Given the description of an element on the screen output the (x, y) to click on. 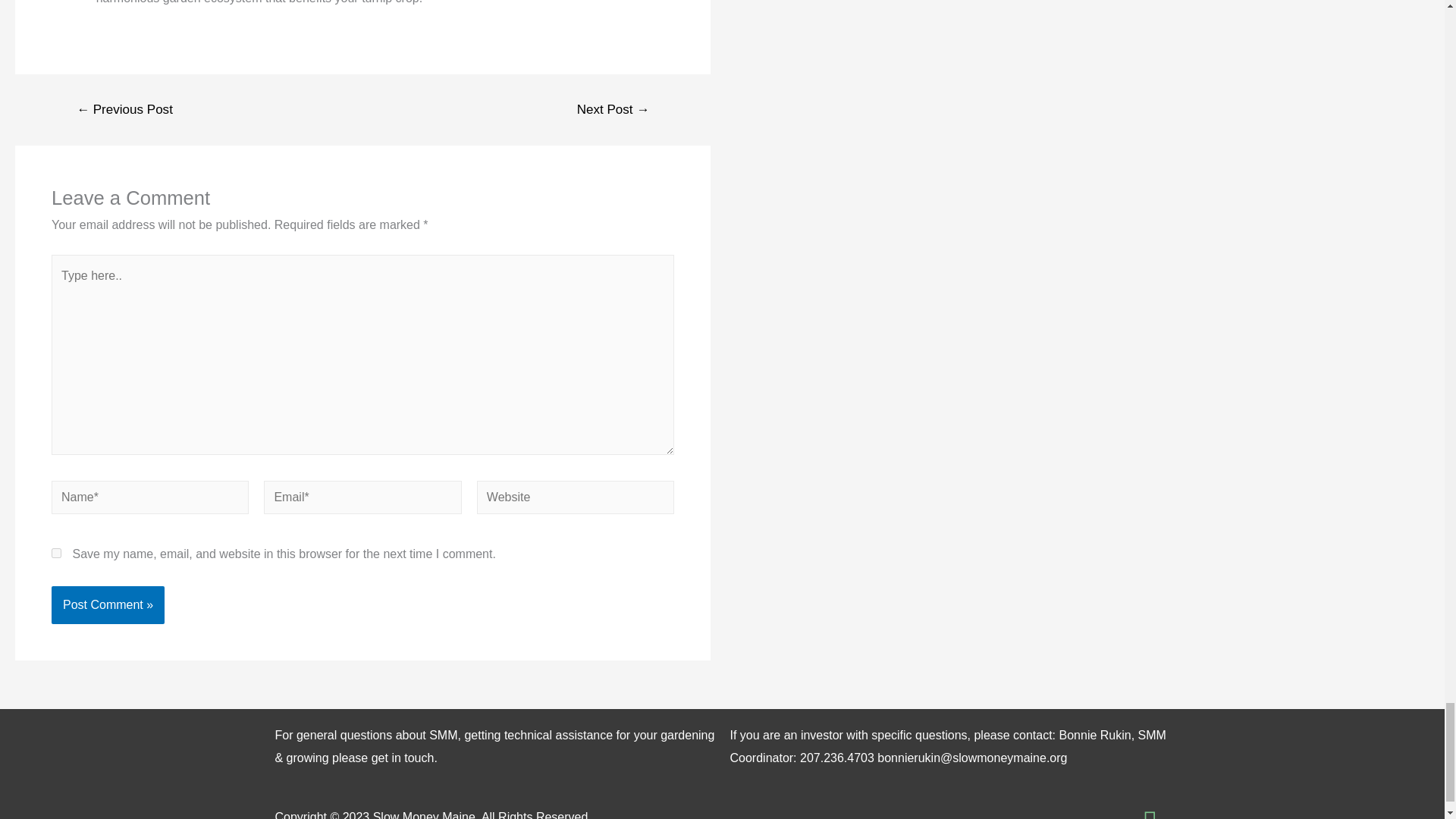
yes (55, 552)
